Given the description of an element on the screen output the (x, y) to click on. 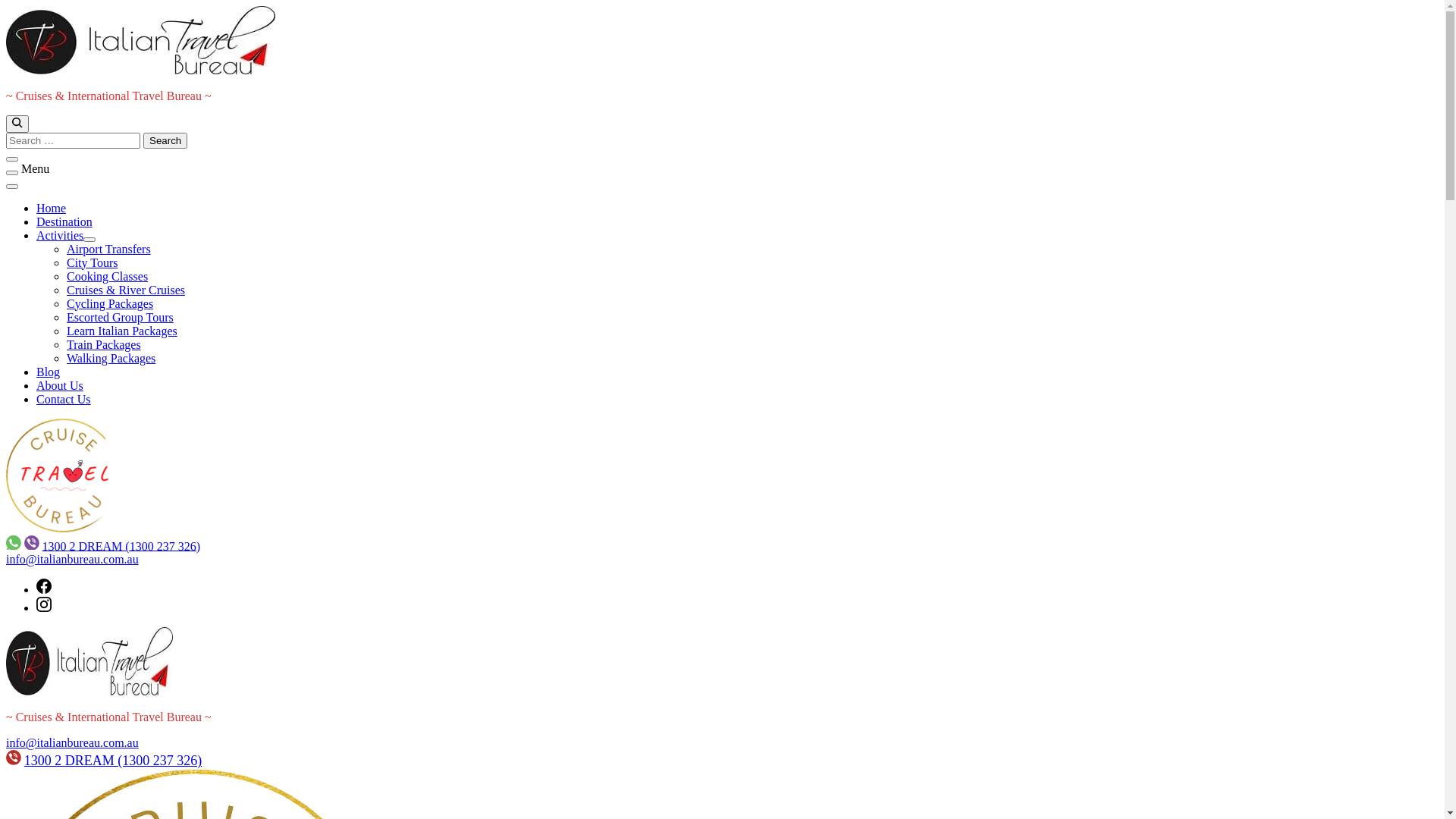
Activities Element type: text (59, 235)
Home Element type: text (50, 207)
Cycling Packages Element type: text (109, 303)
About Us Element type: text (59, 385)
City Tours Element type: text (91, 262)
Cooking Classes Element type: text (106, 275)
Destination Element type: text (64, 221)
Walking Packages Element type: text (110, 357)
Contact Us Element type: text (63, 398)
Search Element type: text (165, 140)
info@italianbureau.com.au Element type: text (72, 558)
info@italianbureau.com.au Element type: text (72, 742)
Escorted Group Tours Element type: text (119, 316)
Airport Transfers Element type: text (108, 248)
Train Packages Element type: text (103, 344)
Learn Italian Packages Element type: text (121, 330)
Skip to content Element type: text (5, 5)
Blog Element type: text (47, 371)
Cruises & River Cruises Element type: text (125, 289)
1300 2 DREAM (1300 237 326) Element type: text (121, 545)
1300 2 DREAM (1300 237 326) Element type: text (113, 760)
